Given the description of an element on the screen output the (x, y) to click on. 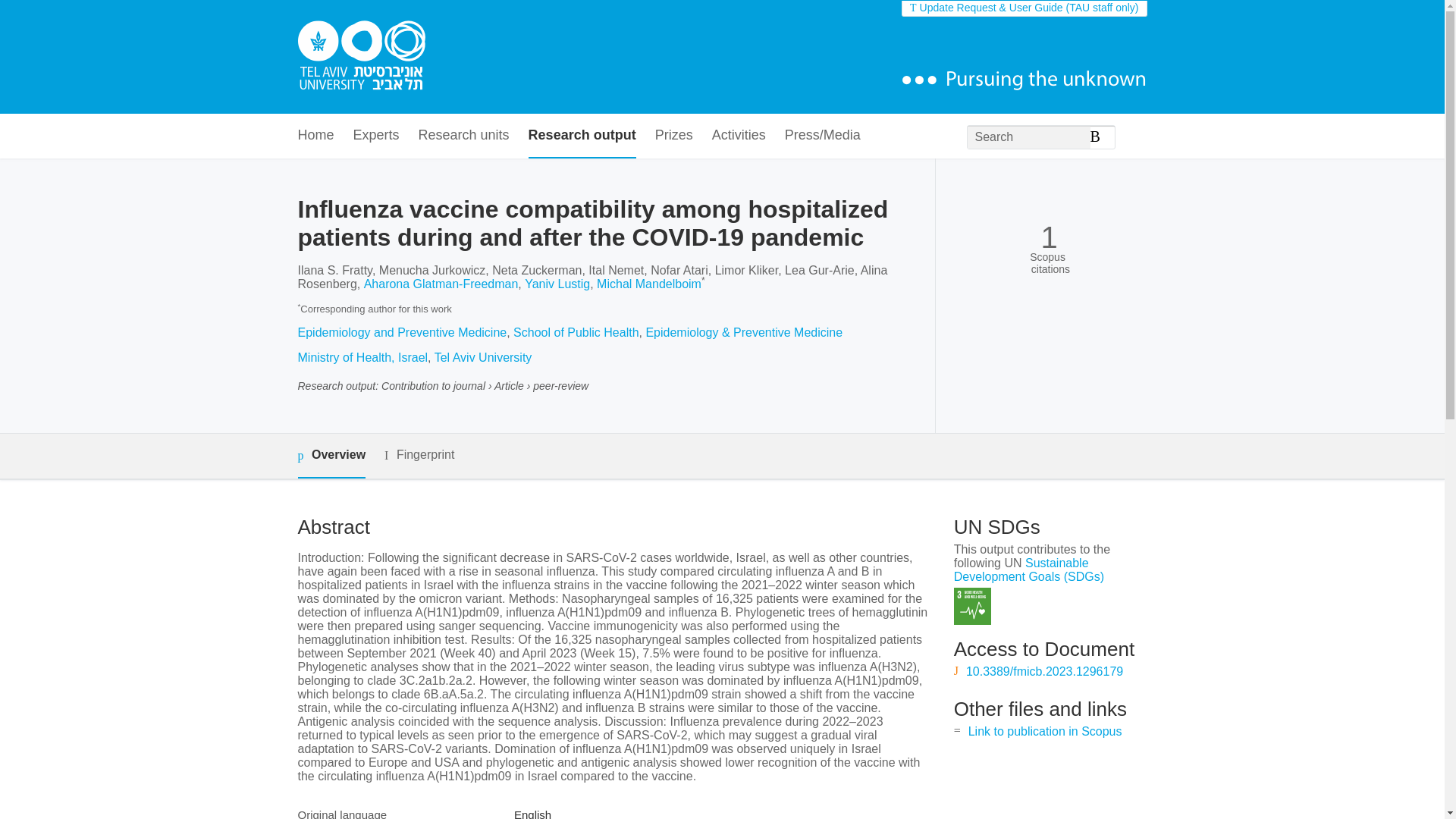
Research output (582, 135)
Overview (331, 456)
Experts (375, 135)
Epidemiology and Preventive Medicine (401, 332)
School of Public Health (576, 332)
Activities (738, 135)
Research units (464, 135)
Tel Aviv University (482, 357)
SDG 3 - Good Health and Well-being (972, 606)
